Given the description of an element on the screen output the (x, y) to click on. 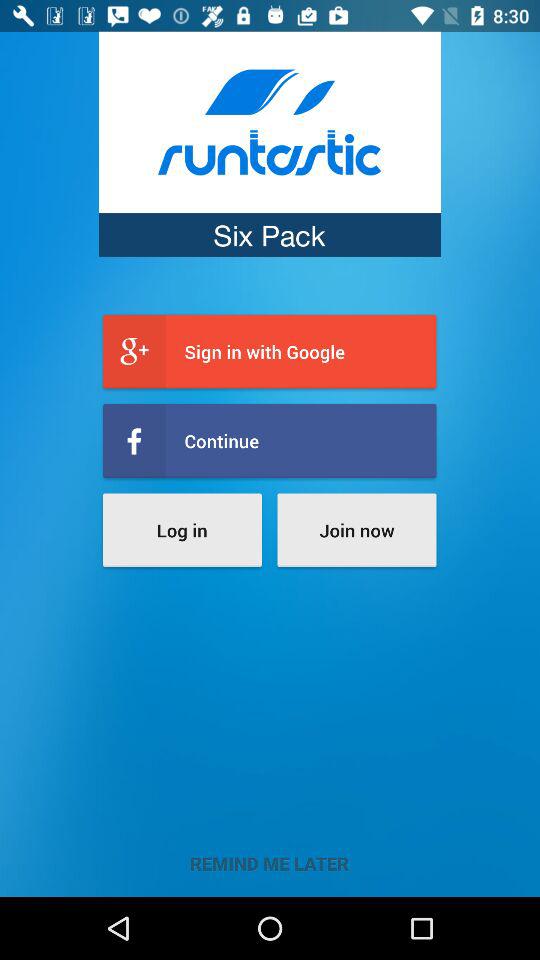
select the log in (182, 529)
